Given the description of an element on the screen output the (x, y) to click on. 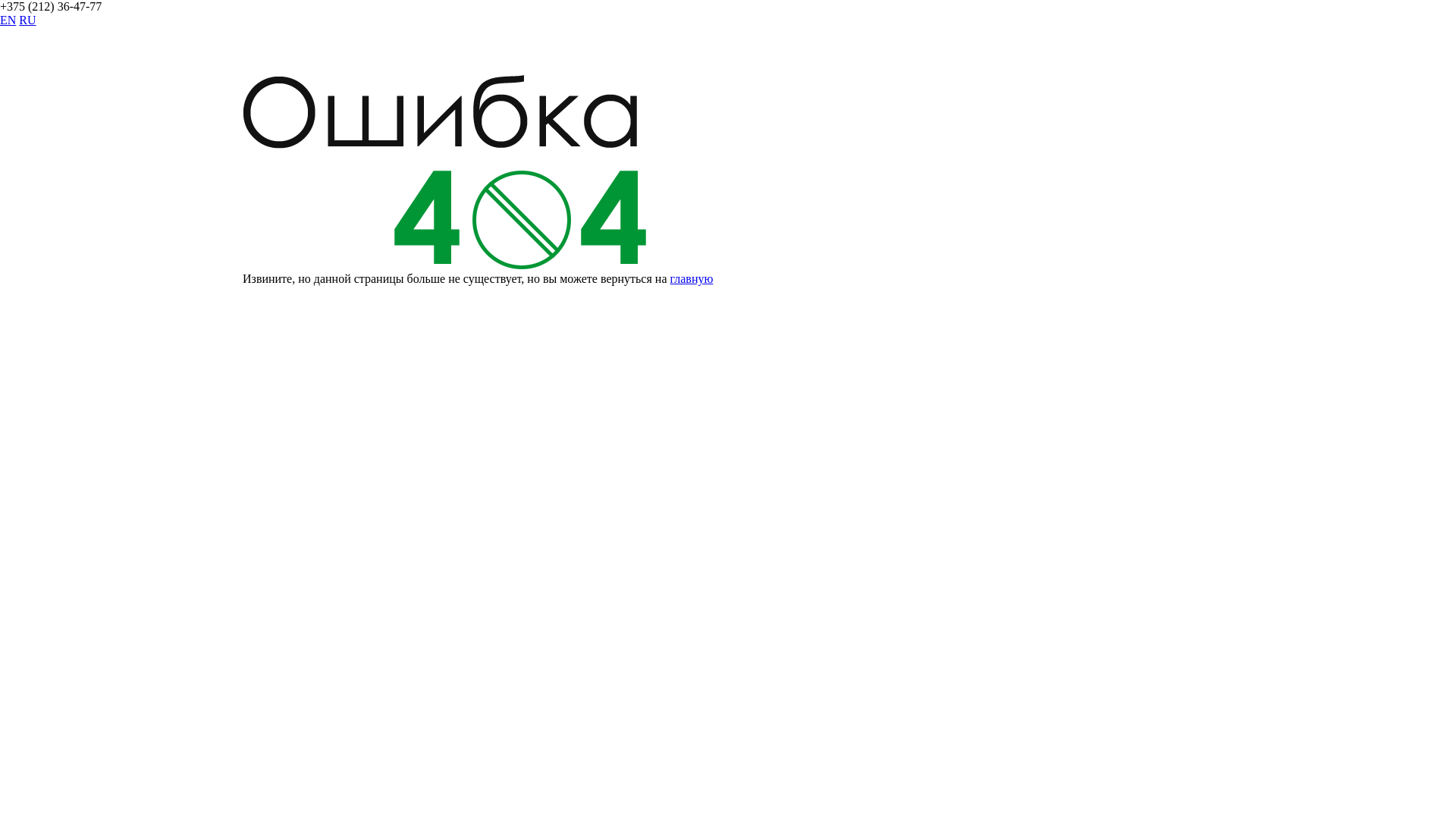
RU Element type: text (26, 19)
EN Element type: text (7, 19)
